Given the description of an element on the screen output the (x, y) to click on. 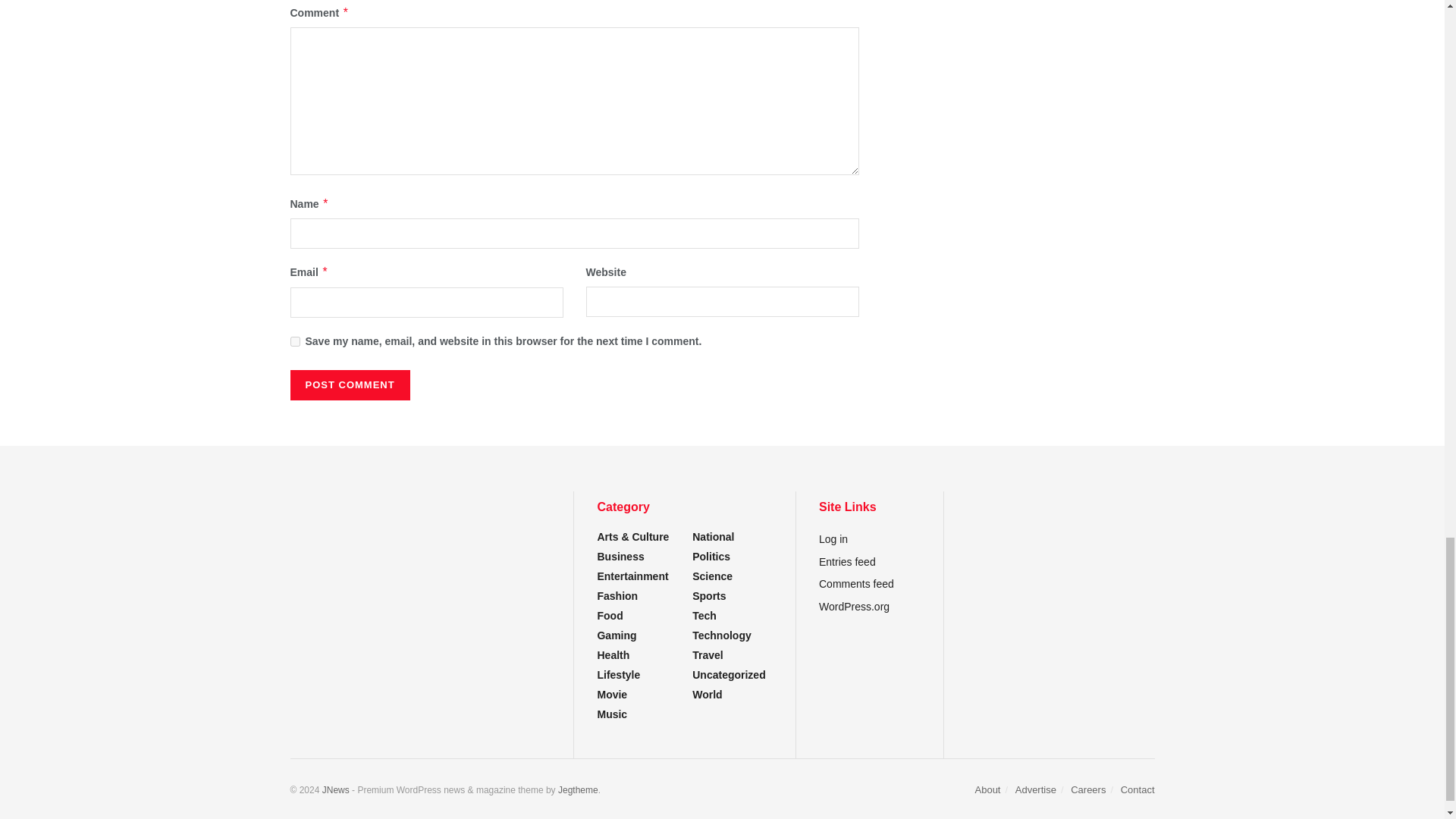
Jegtheme (577, 789)
yes (294, 341)
Post Comment (349, 385)
